Given the description of an element on the screen output the (x, y) to click on. 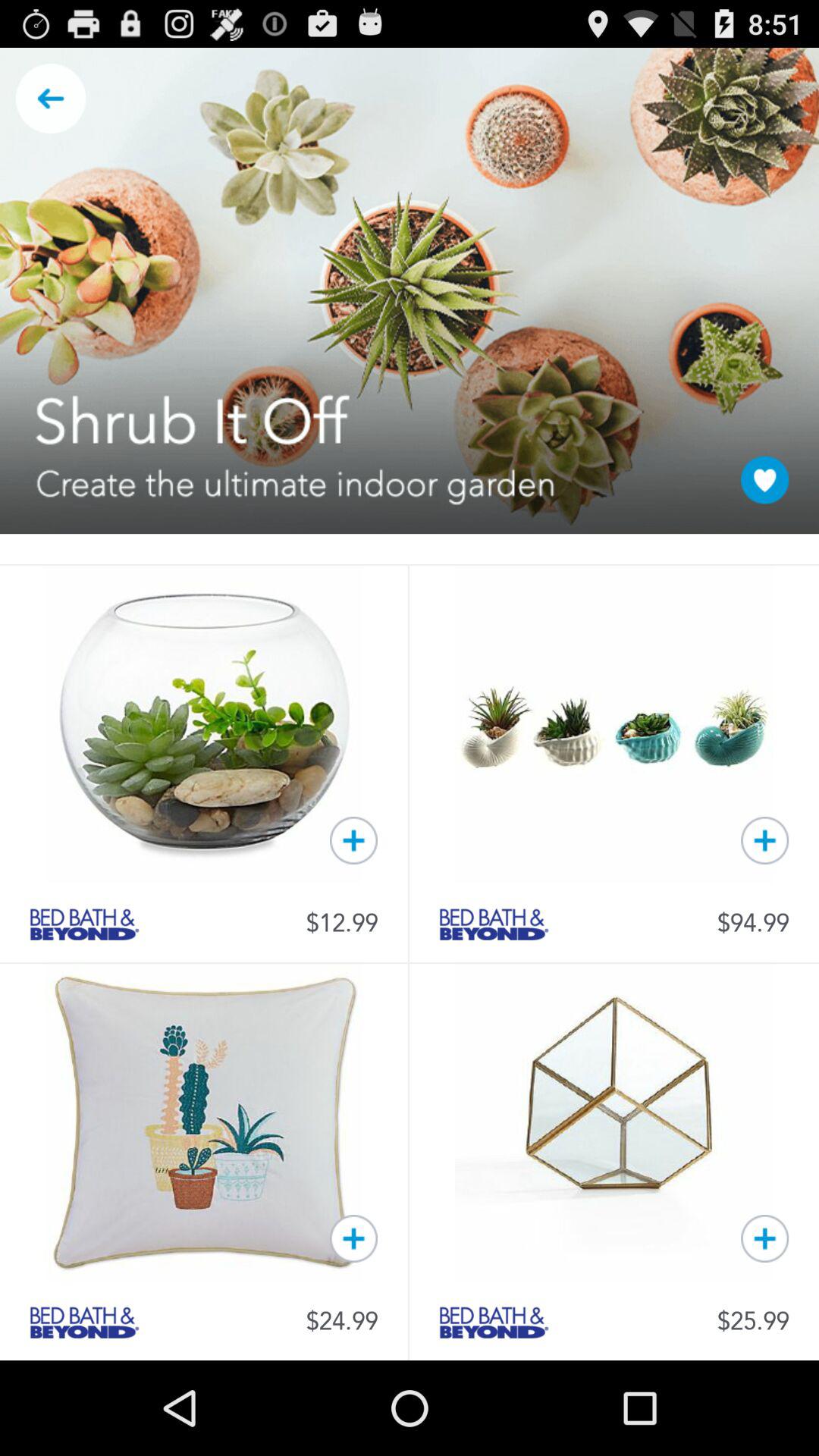
add cube to cart (764, 1238)
